Given the description of an element on the screen output the (x, y) to click on. 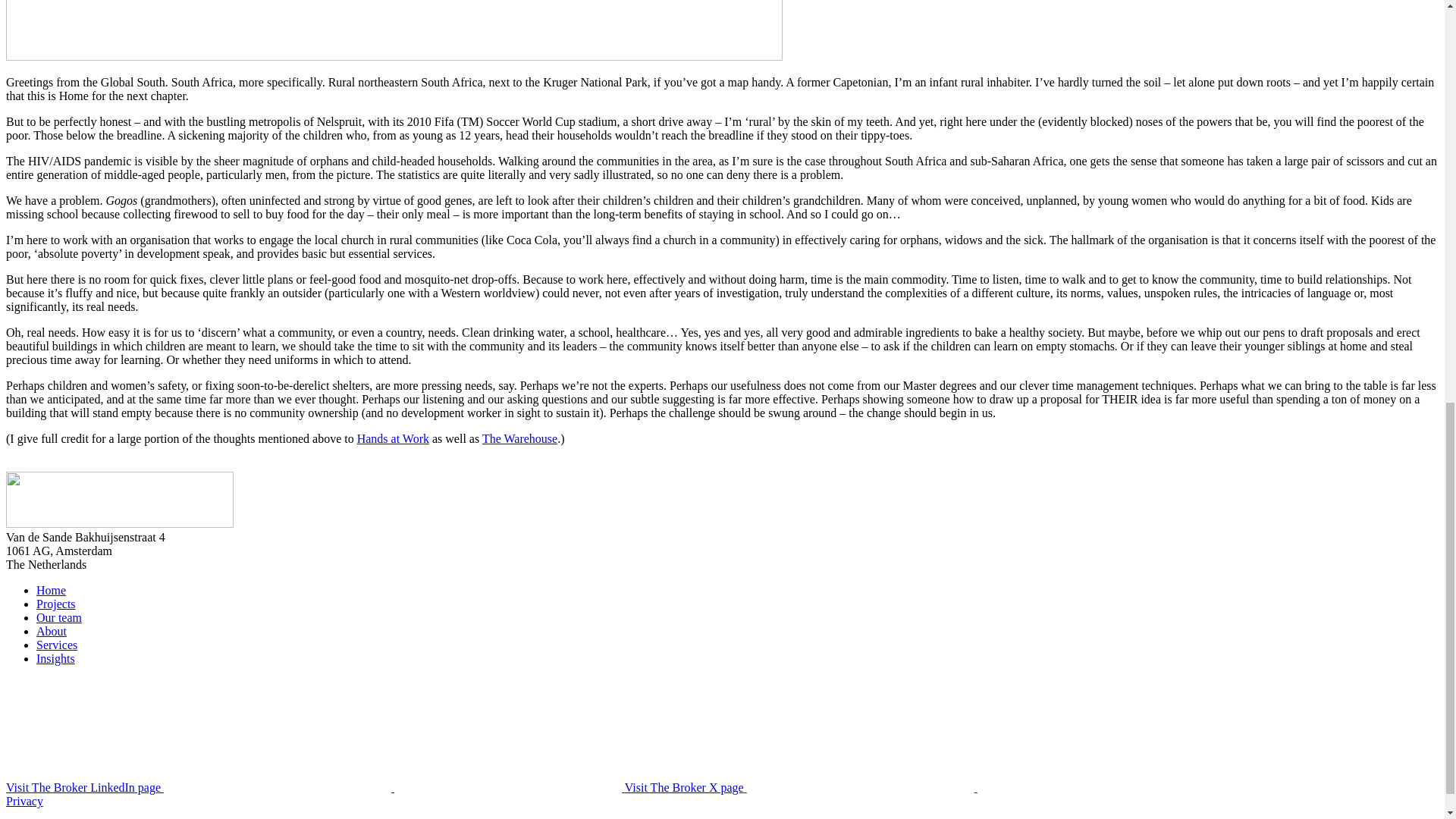
Projects (55, 603)
Insights (55, 658)
Privacy (24, 800)
Our team (58, 617)
Home (50, 590)
Services (56, 644)
Visit The Broker LinkedIn page (314, 787)
The Warehouse (519, 438)
About (51, 631)
Hands at Work (392, 438)
